Given the description of an element on the screen output the (x, y) to click on. 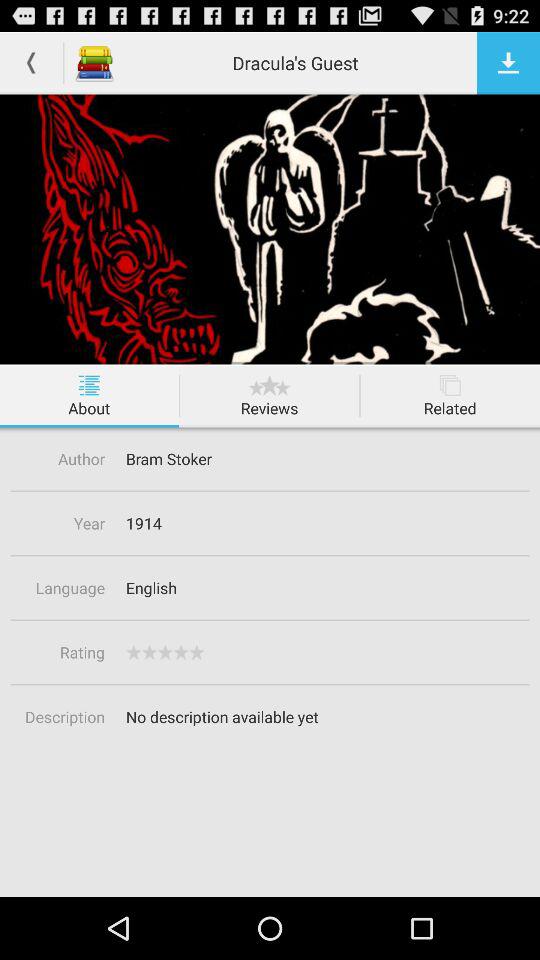
go back (31, 62)
